Given the description of an element on the screen output the (x, y) to click on. 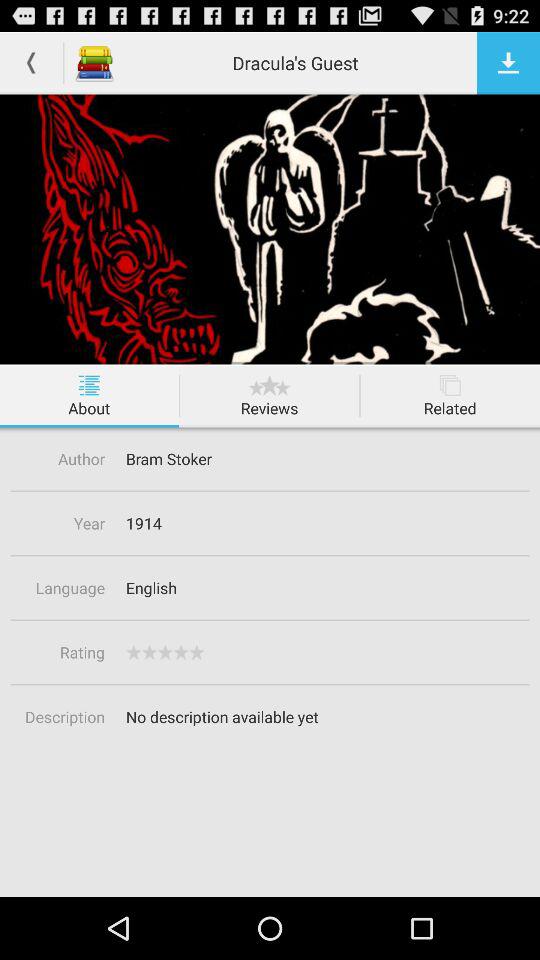
go back (31, 62)
